Given the description of an element on the screen output the (x, y) to click on. 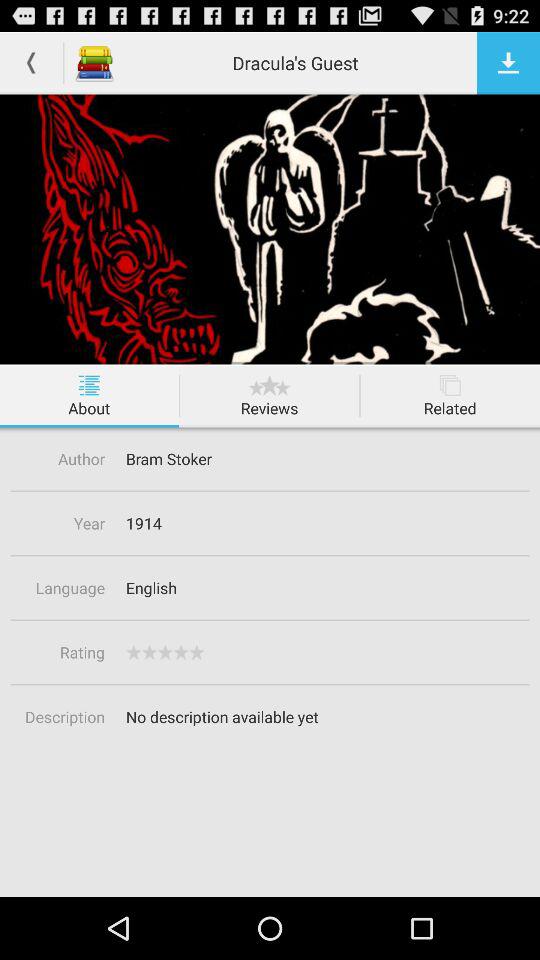
go back (31, 62)
